Given the description of an element on the screen output the (x, y) to click on. 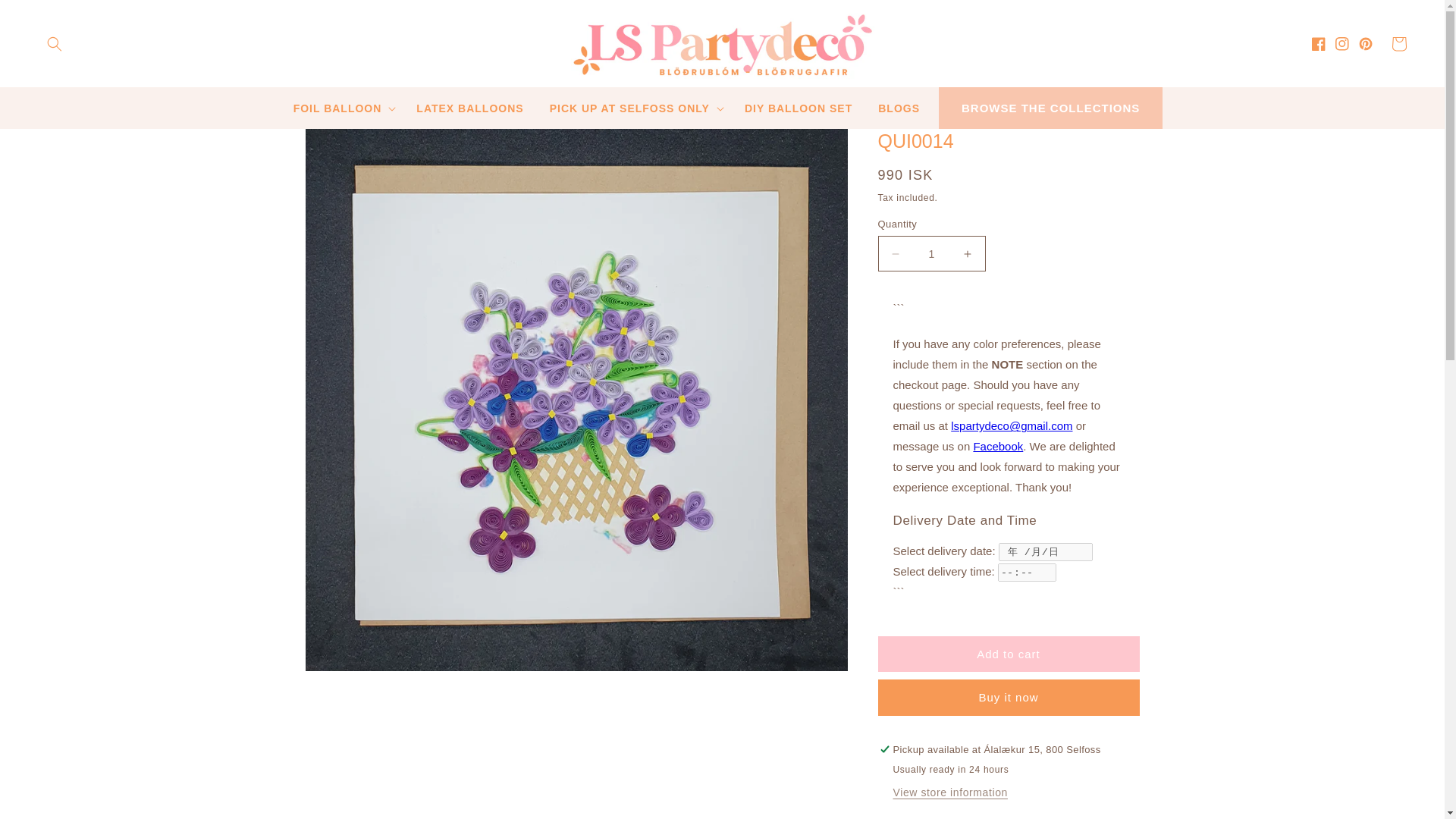
BLOGS (898, 108)
1 (931, 253)
Instagram (1346, 43)
Pinterest (1369, 43)
Facebook (1323, 43)
BROWSE THE COLLECTIONS (1050, 107)
DIY BALLOON SET (798, 108)
Skip to content (45, 17)
LATEX BALLOONS (469, 108)
